Given the description of an element on the screen output the (x, y) to click on. 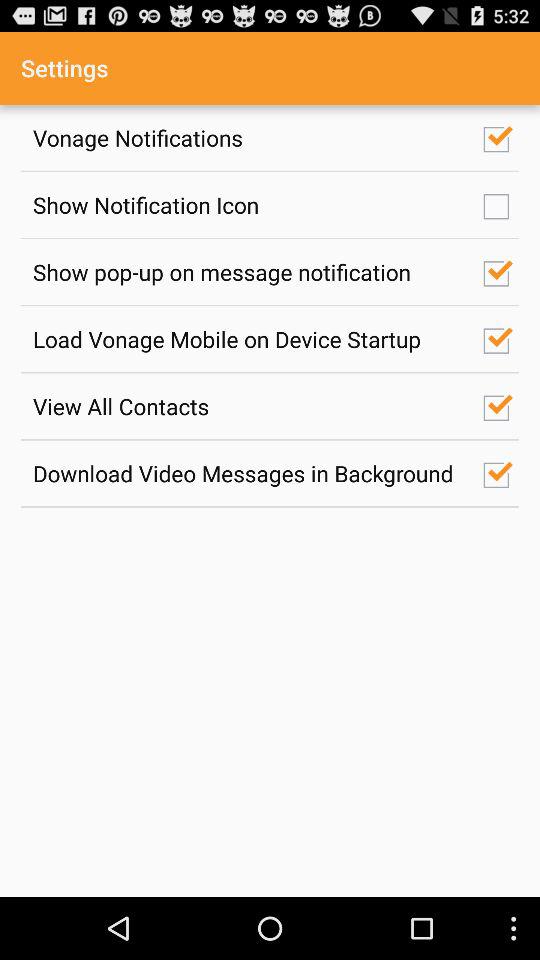
open load vonage mobile item (247, 338)
